Given the description of an element on the screen output the (x, y) to click on. 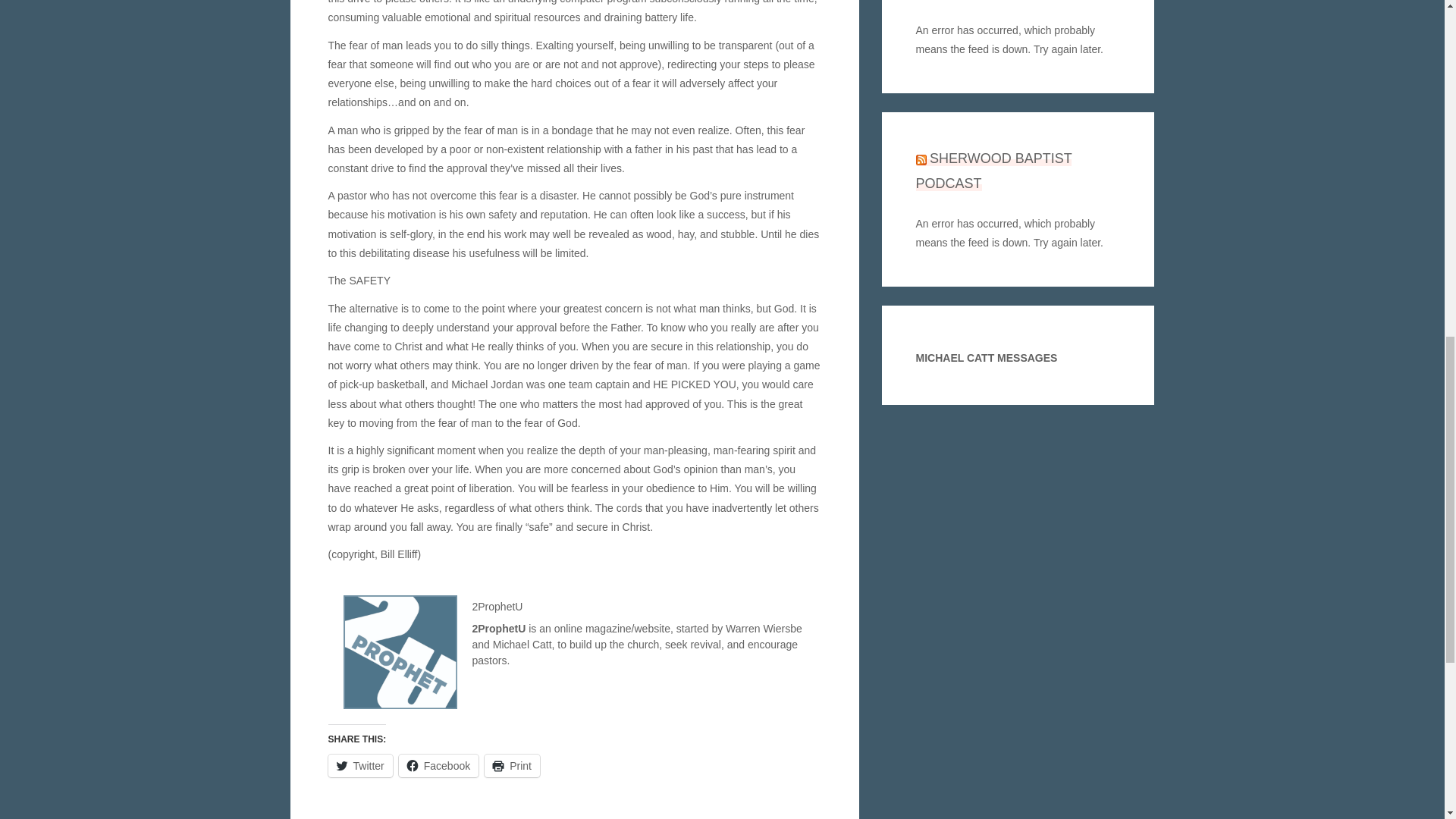
Click to share on Twitter (359, 765)
Click to print (512, 765)
Click to share on Facebook (438, 765)
